Given the description of an element on the screen output the (x, y) to click on. 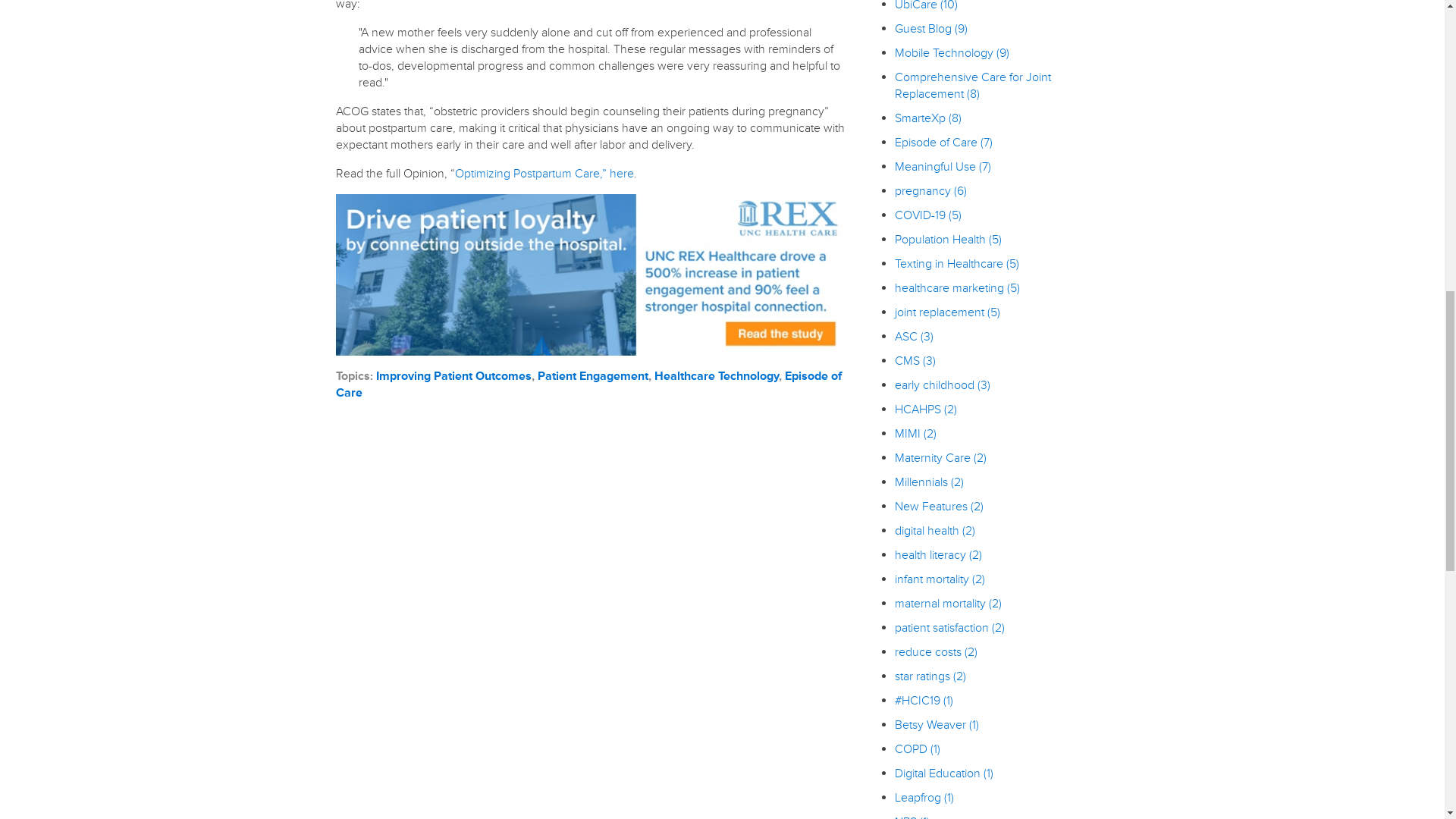
Improving Patient Outcomes (453, 376)
Patient Engagement (592, 376)
Episode of Care (587, 384)
Healthcare Technology (715, 376)
